Given the description of an element on the screen output the (x, y) to click on. 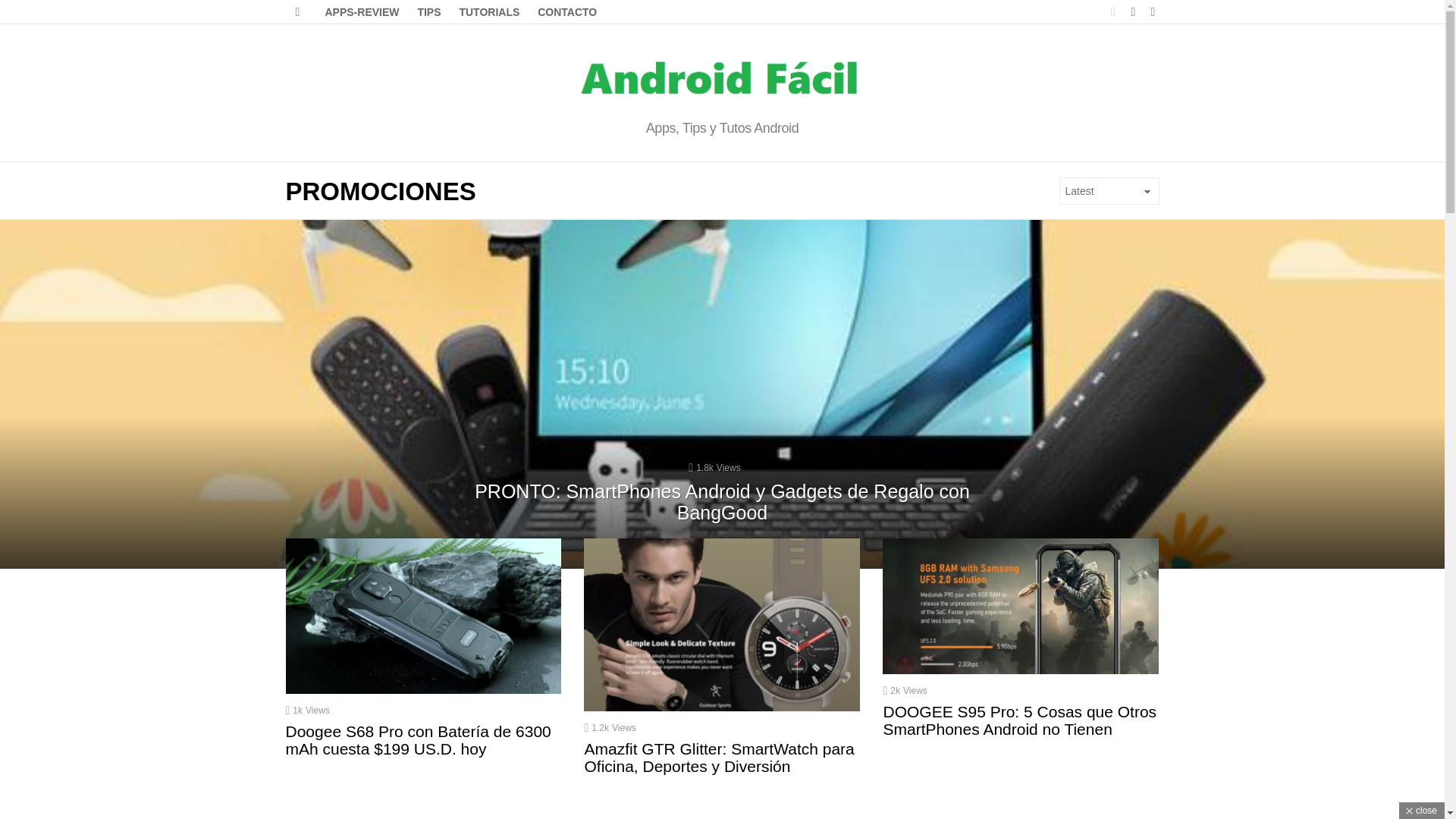
TUTORIALS (489, 11)
CONTACTO (566, 11)
PRONTO: SmartPhones Android y Gadgets de Regalo con BangGood (721, 501)
APPS-REVIEW (361, 11)
Menu (296, 12)
TIPS (428, 11)
